Given the description of an element on the screen output the (x, y) to click on. 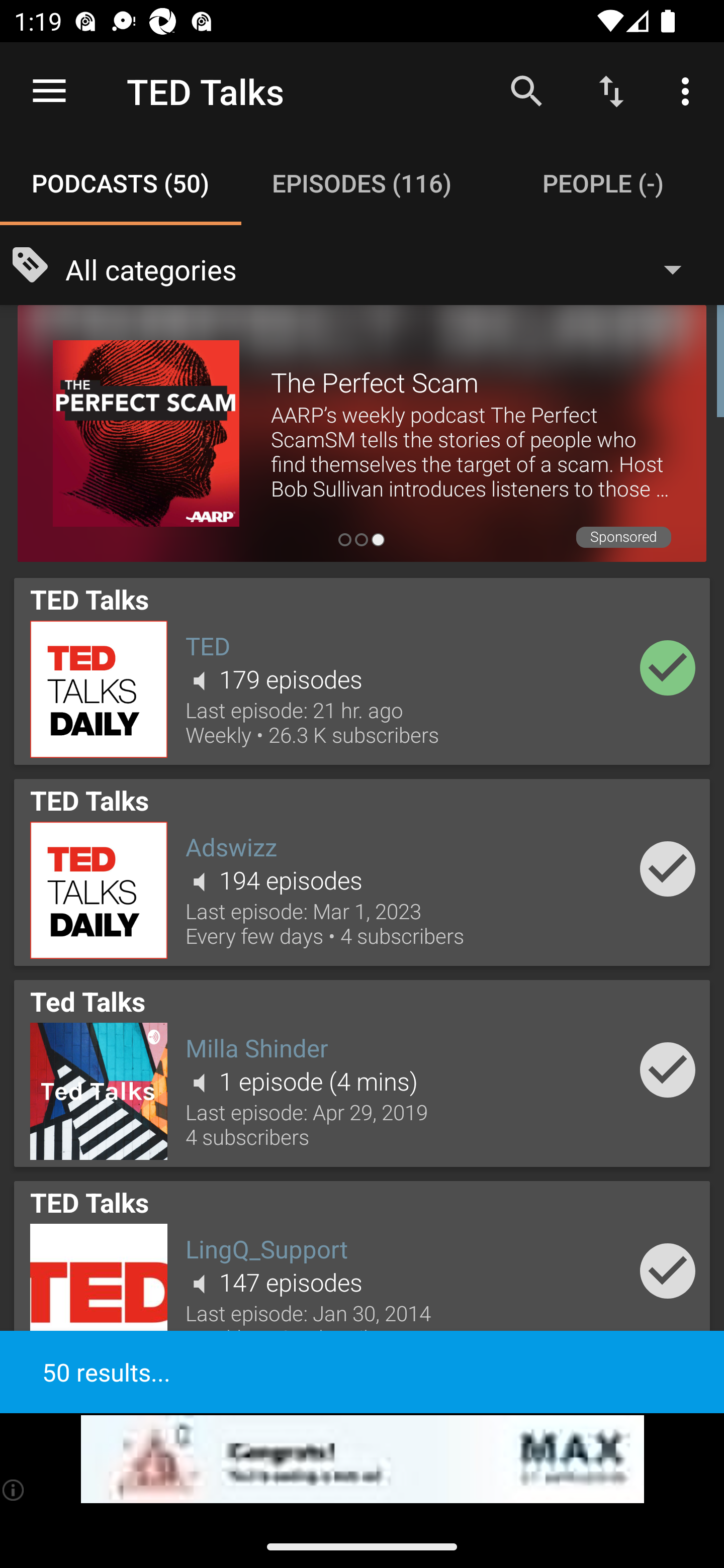
Open navigation sidebar (49, 91)
Search (526, 90)
Sort (611, 90)
More options (688, 90)
Episodes (116) EPISODES (116) (361, 183)
People (-) PEOPLE (-) (603, 183)
All categories (383, 268)
Add (667, 667)
Add (667, 868)
Add (667, 1069)
Add (667, 1271)
app-monetization (362, 1459)
(i) (14, 1489)
